Given the description of an element on the screen output the (x, y) to click on. 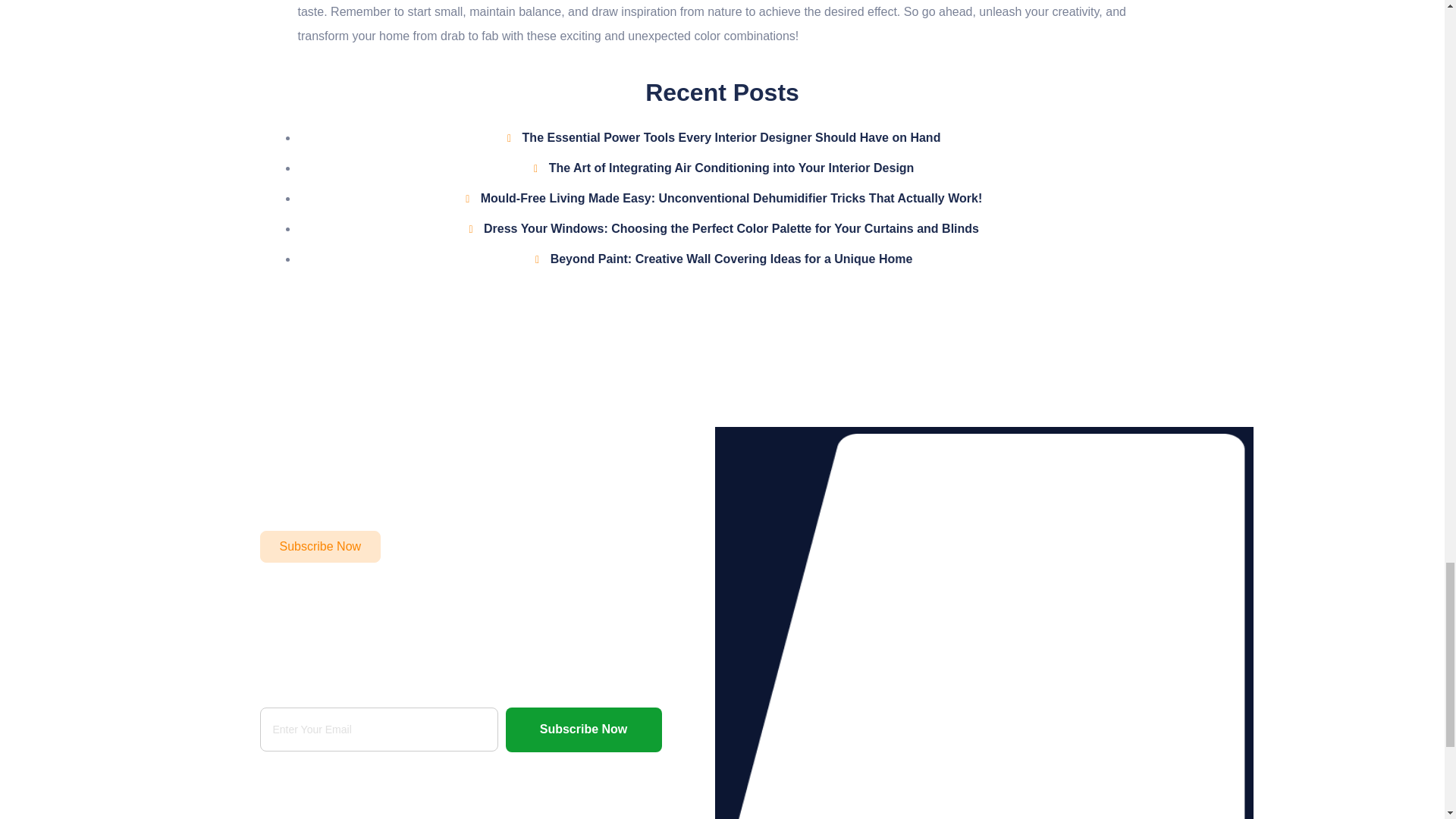
Subscribe Now (583, 729)
Beyond Paint: Creative Wall Covering Ideas for a Unique Home (722, 259)
